Given the description of an element on the screen output the (x, y) to click on. 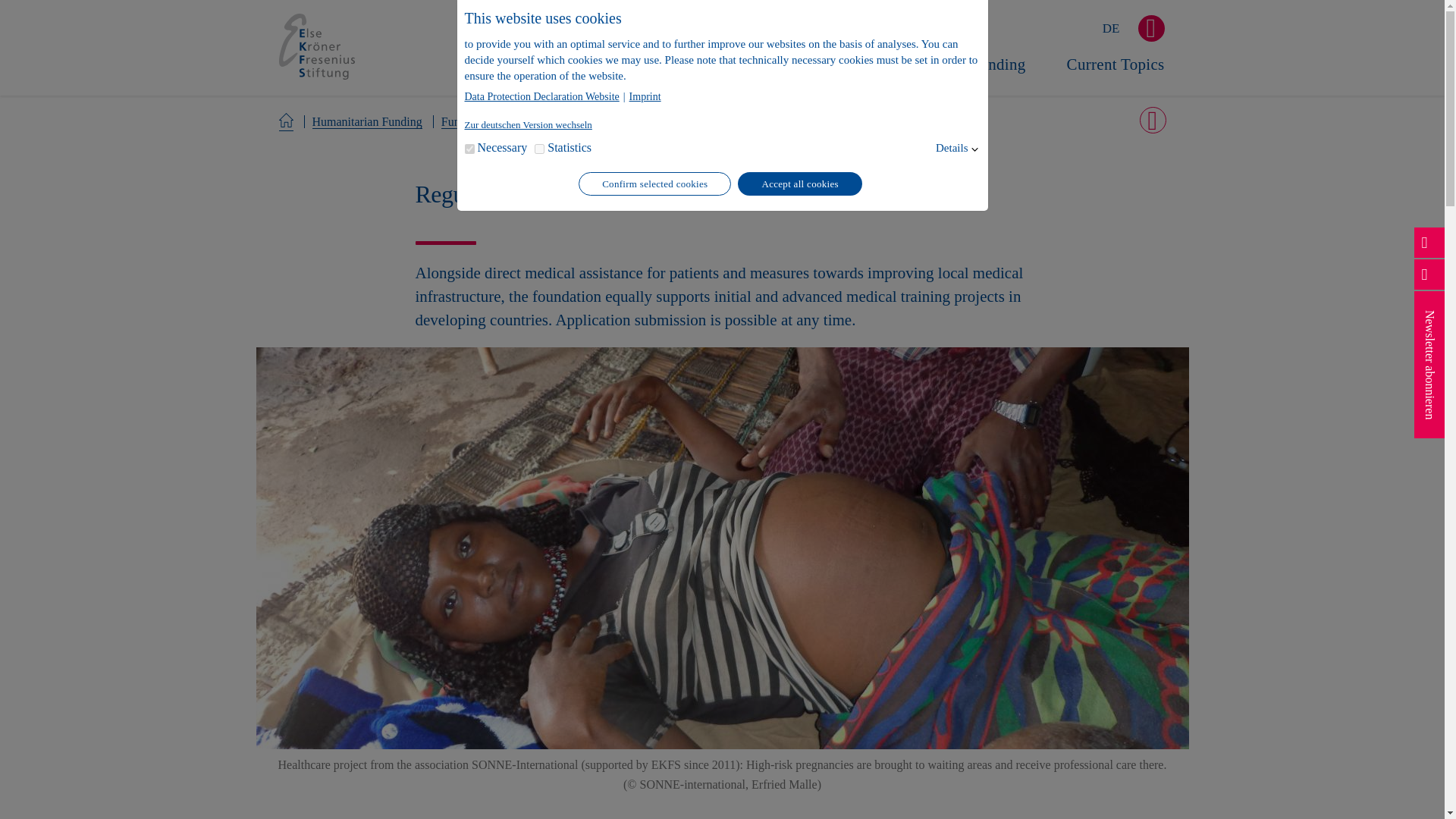
statistics (539, 148)
Confirm selected cookies (654, 183)
Scientific Funding (774, 75)
Details (951, 147)
Current Topics (1115, 75)
necessary (469, 148)
Data Protection Declaration Website (543, 96)
Zur deutschen Version wechseln (527, 124)
About Us (640, 75)
Humanitarian Funding (951, 75)
Imprint (645, 96)
DE (1110, 28)
Accept all cookies (799, 183)
